Given the description of an element on the screen output the (x, y) to click on. 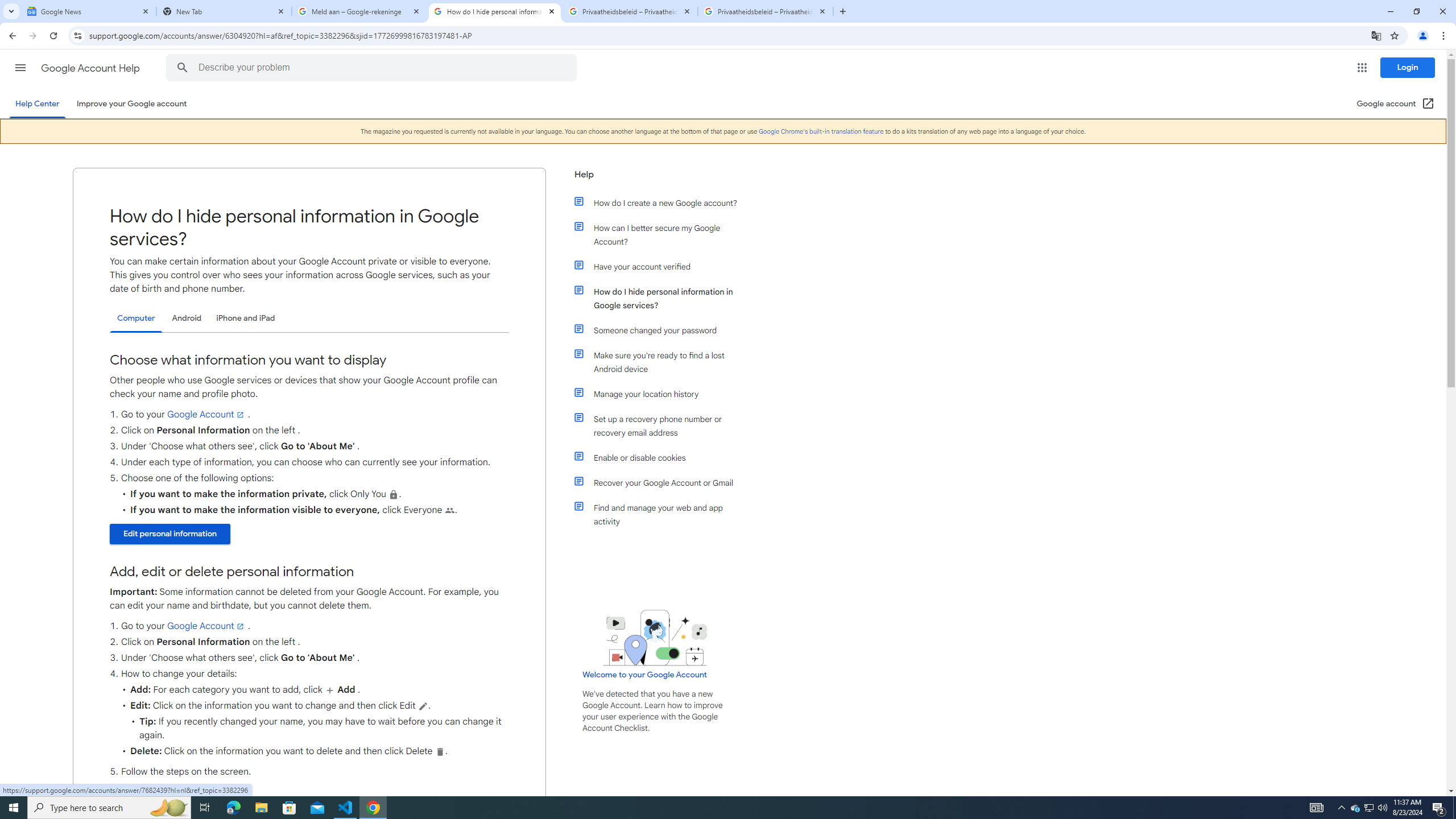
Find and manage your web and app activity (661, 514)
New Tab (224, 11)
Search the Help Center (181, 67)
Private, tap to edit who can see this data (393, 493)
Google Chrome's built-in translation feature (820, 131)
Enable or disable cookies (661, 457)
To process (422, 706)
Learning Center home page image (655, 637)
Login (1407, 67)
People (449, 510)
